Given the description of an element on the screen output the (x, y) to click on. 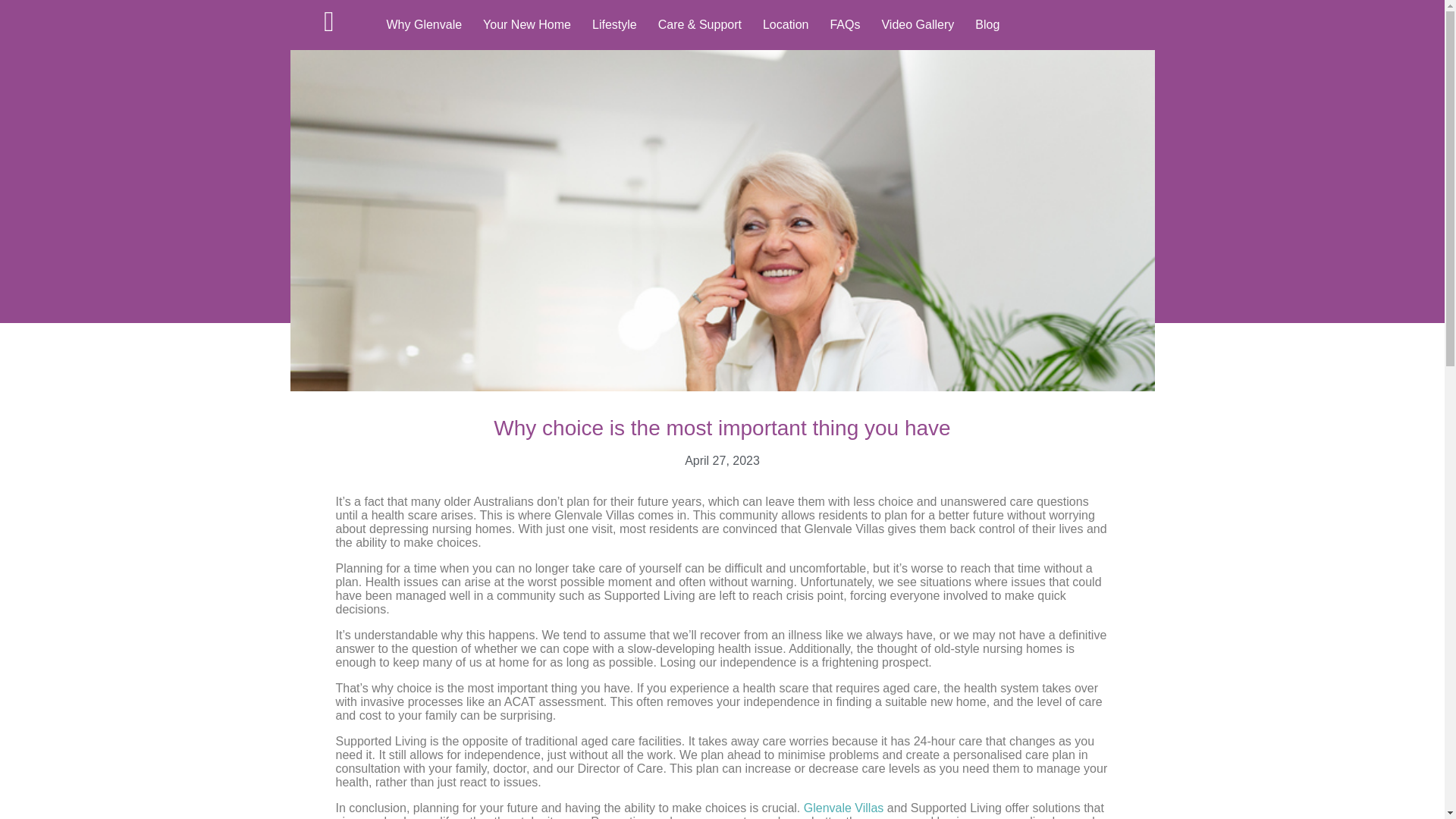
Your New Home (525, 24)
Video Gallery (916, 24)
Location (785, 24)
Blog (986, 24)
Lifestyle (613, 24)
April 27, 2023 (722, 460)
Why Glenvale (423, 24)
FAQs (844, 24)
Glenvale Villas (843, 807)
